Given the description of an element on the screen output the (x, y) to click on. 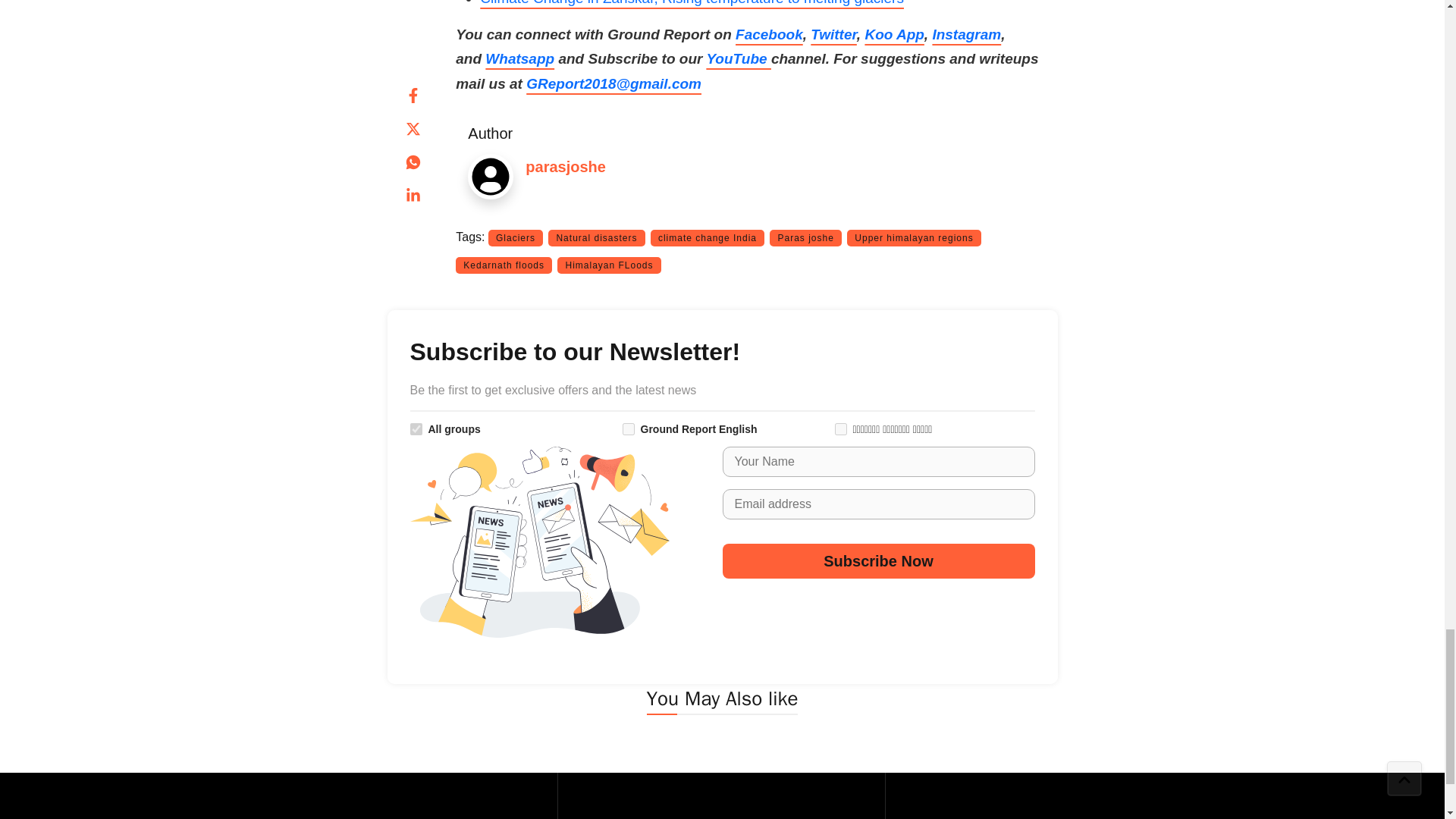
199 (627, 428)
200 (839, 428)
